Given the description of an element on the screen output the (x, y) to click on. 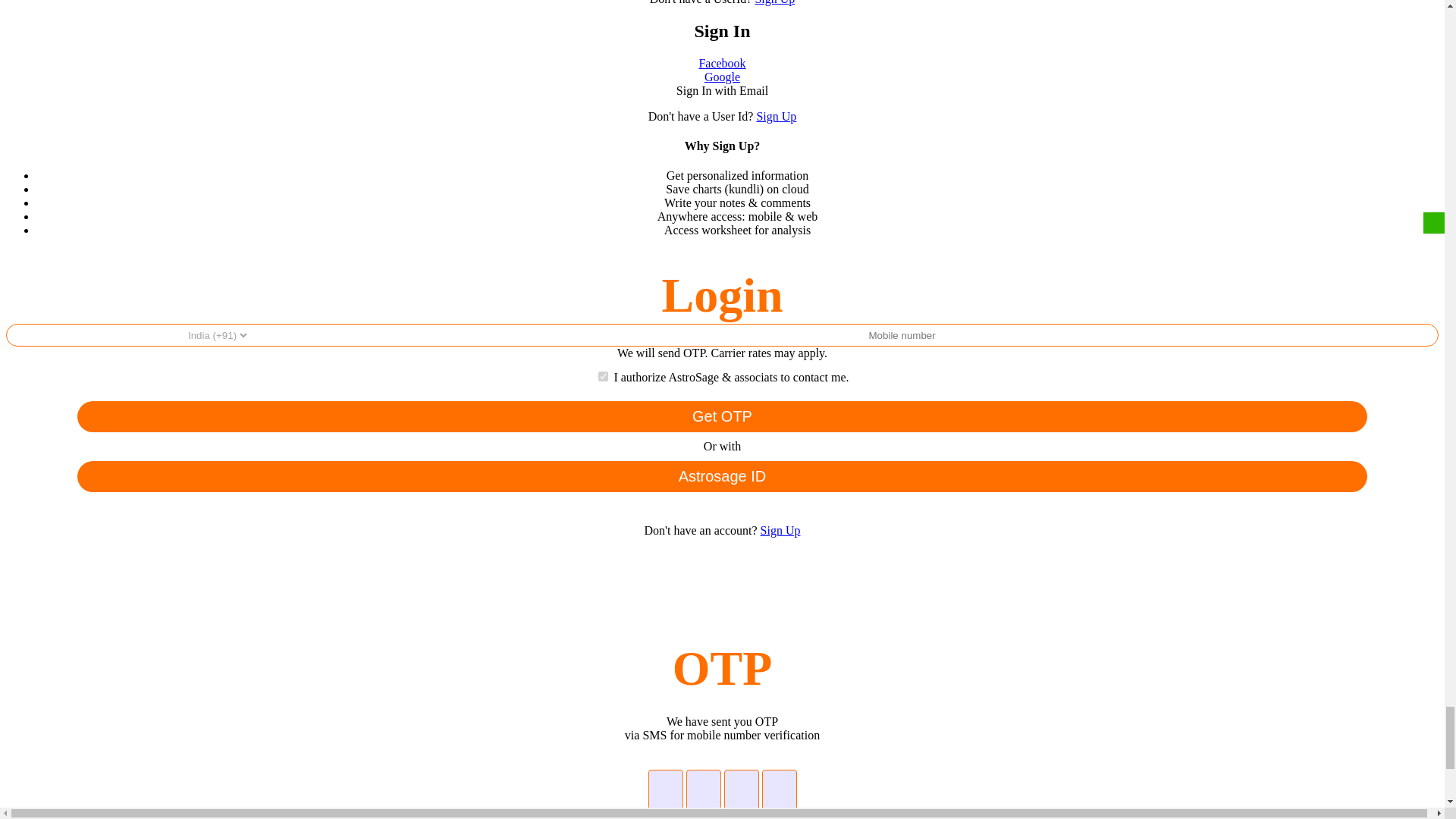
on (603, 376)
